Given the description of an element on the screen output the (x, y) to click on. 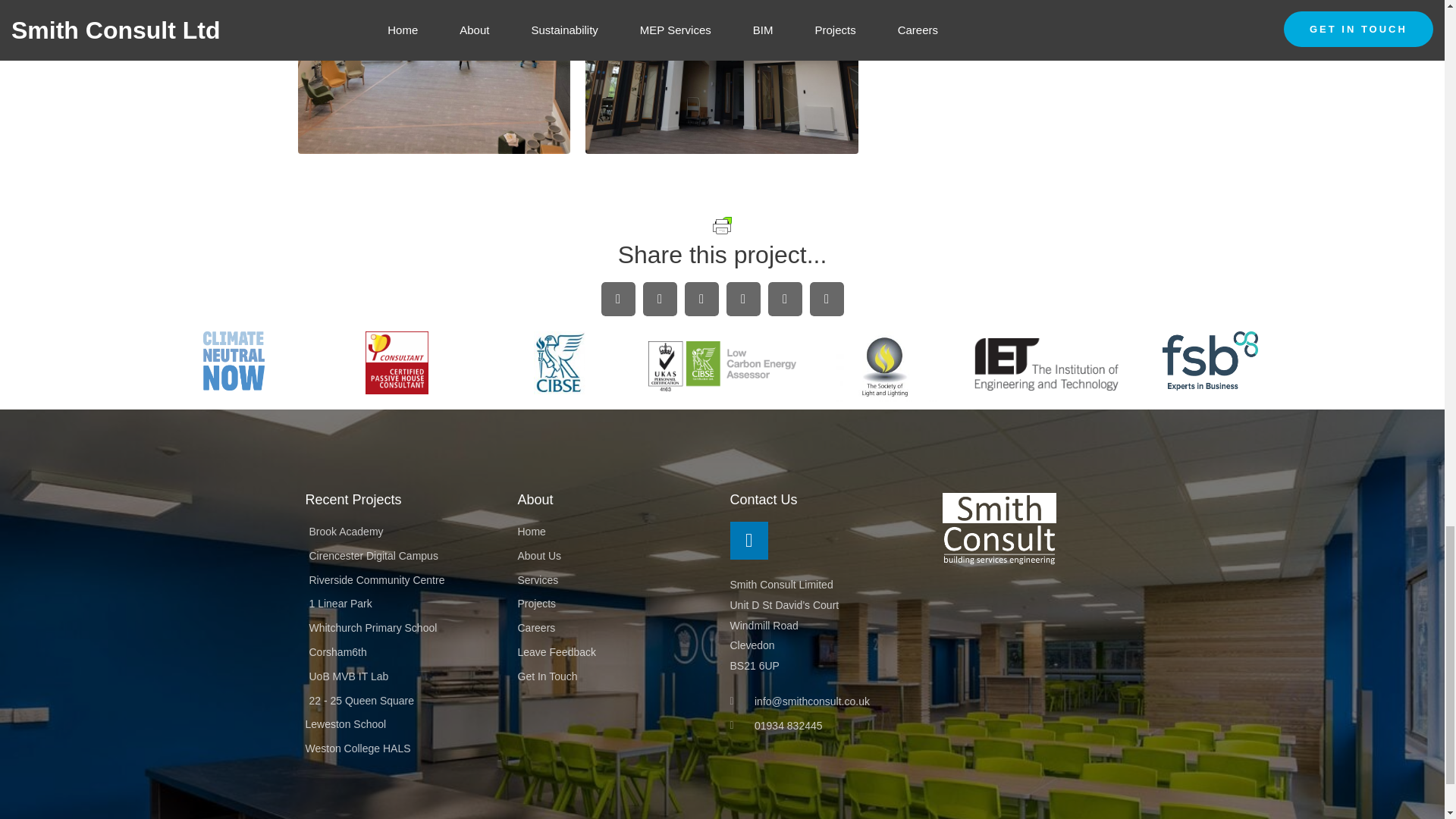
ietlogo (1047, 363)
light-and-lighting (884, 366)
